Given the description of an element on the screen output the (x, y) to click on. 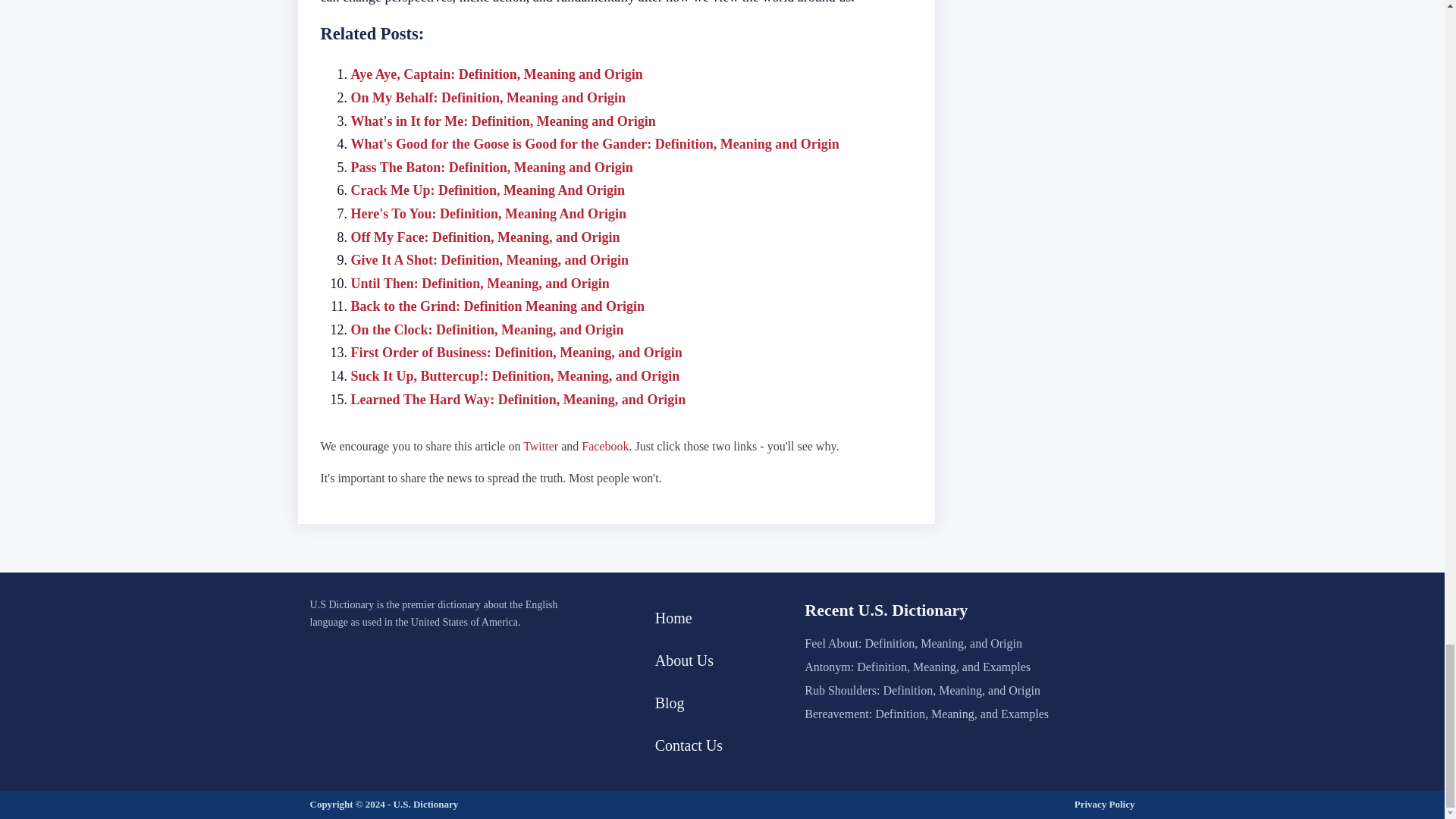
Crack Me Up: Definition, Meaning And Origin (487, 190)
Here's To You: Definition, Meaning And Origin (488, 213)
Back to the Grind: Definition Meaning and Origin (497, 305)
Off My Face: Definition, Meaning, and Origin (485, 236)
Back to the Grind: Definition Meaning and Origin (497, 305)
Aye Aye, Captain: Definition, Meaning and Origin (496, 73)
On My Behalf: Definition, Meaning and Origin (488, 97)
Pass The Baton: Definition, Meaning and Origin (490, 167)
Pass The Baton: Definition, Meaning and Origin (490, 167)
